Given the description of an element on the screen output the (x, y) to click on. 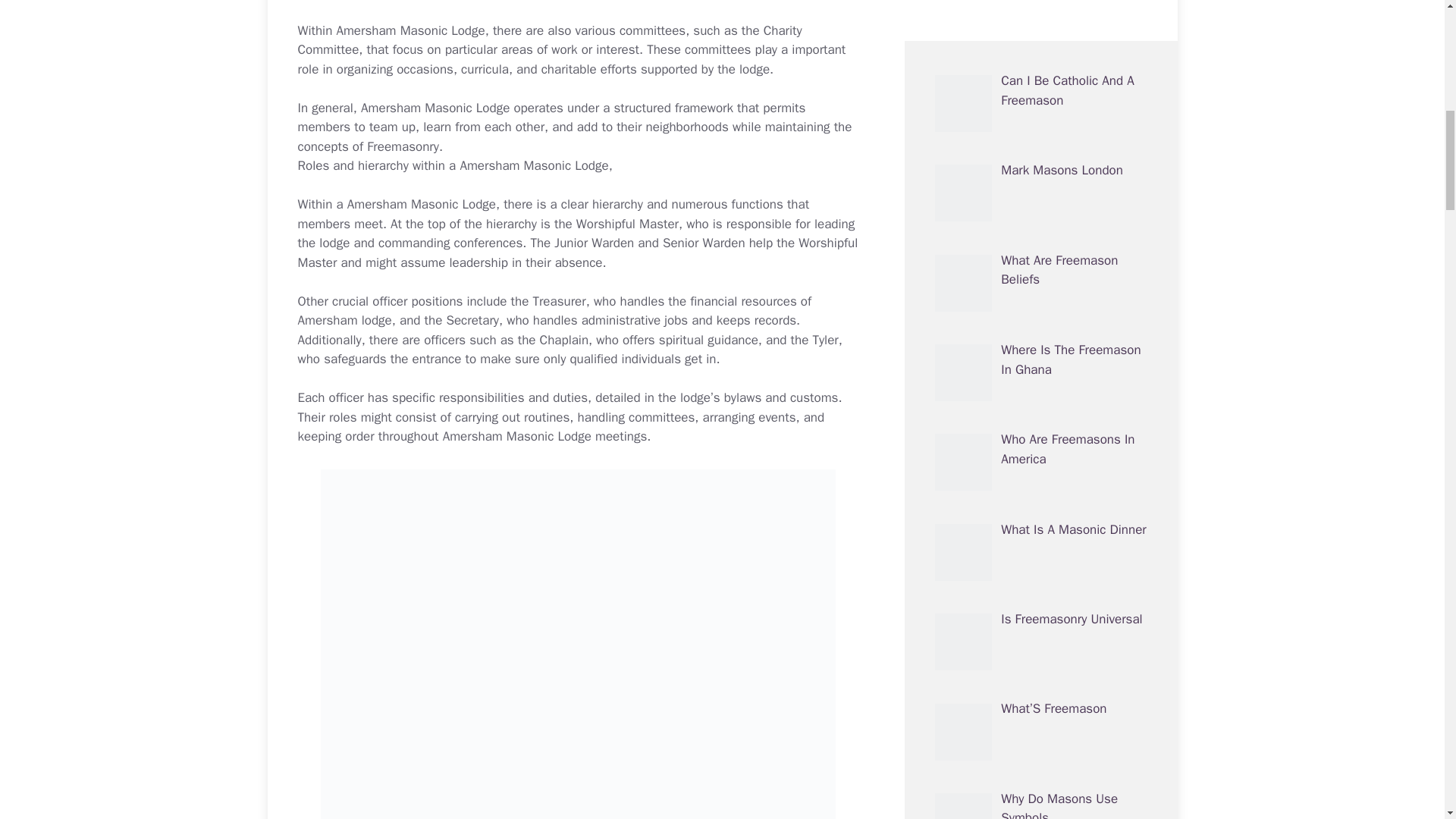
Knights Templar Thurrock (1072, 770)
Scroll back to top (1406, 720)
How To Become A Freemason In California (1067, 331)
Mark Masons Merionethshire (1042, 601)
What Does A Masonic Temple Do (1062, 690)
Highest Masonic Order (1065, 411)
Masonic Lodge Lincolnshire, Parts Of Kesteven (1061, 520)
Masonic Lodge Middlesbrough (1043, 241)
Why Do Masons Use Symbols (1059, 62)
Knights Templar Cornwall (1071, 141)
